Given the description of an element on the screen output the (x, y) to click on. 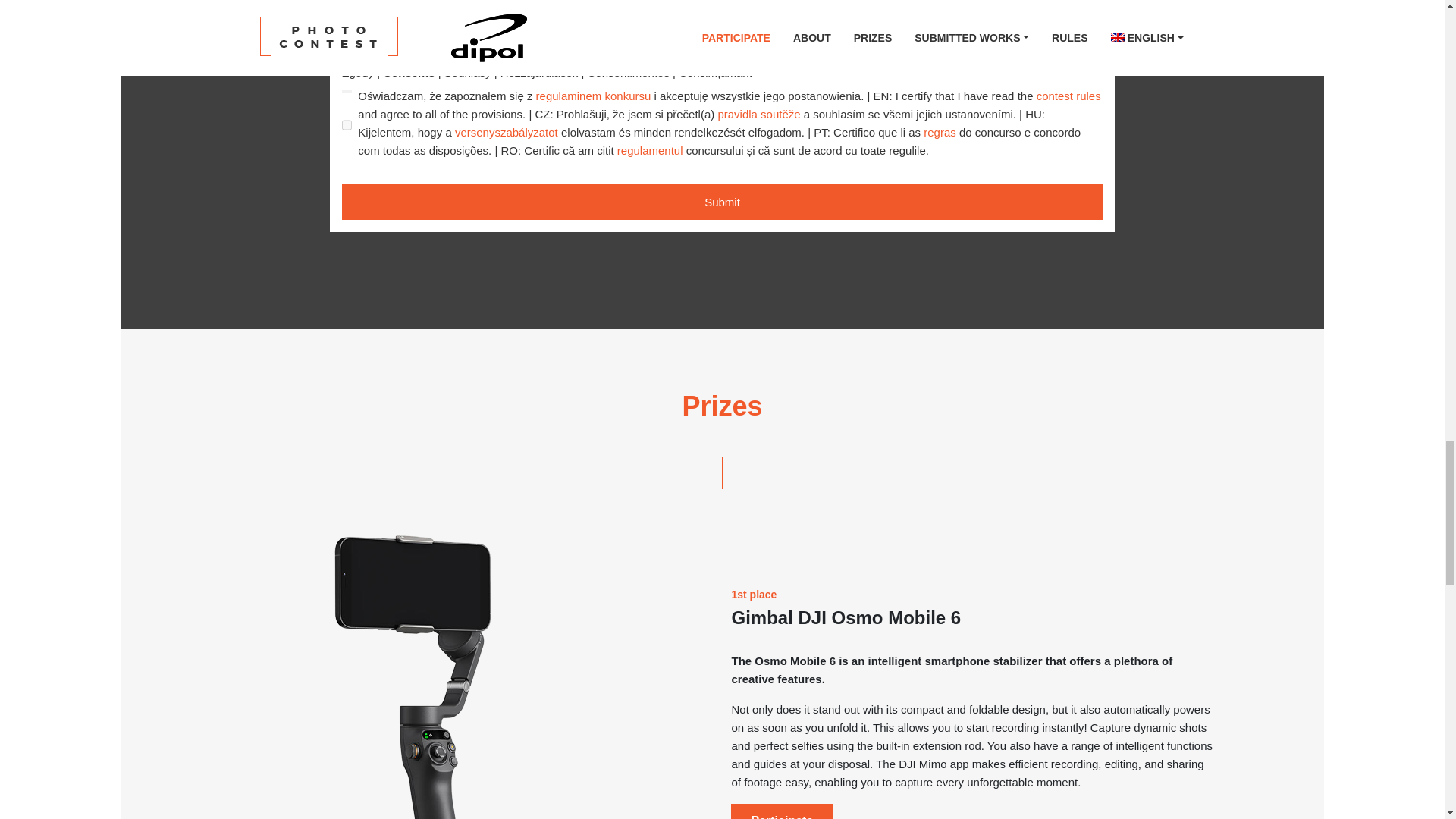
regulaminem konkursu (592, 95)
Participate (781, 811)
Submit (722, 202)
contest rules (1068, 95)
regras (939, 132)
regulamentul (649, 150)
